Given the description of an element on the screen output the (x, y) to click on. 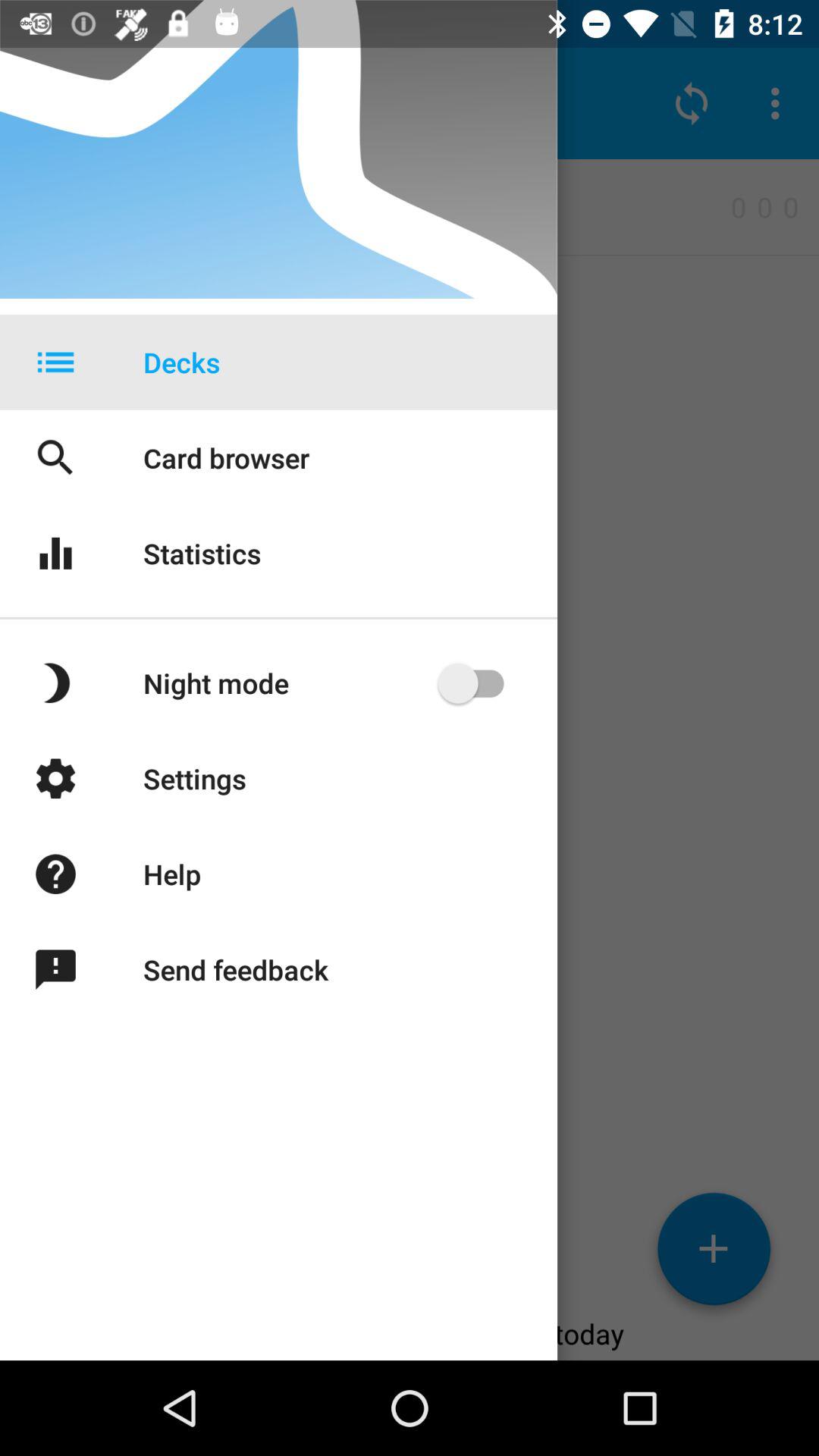
click on the icon which is above decks (691, 103)
